Given the description of an element on the screen output the (x, y) to click on. 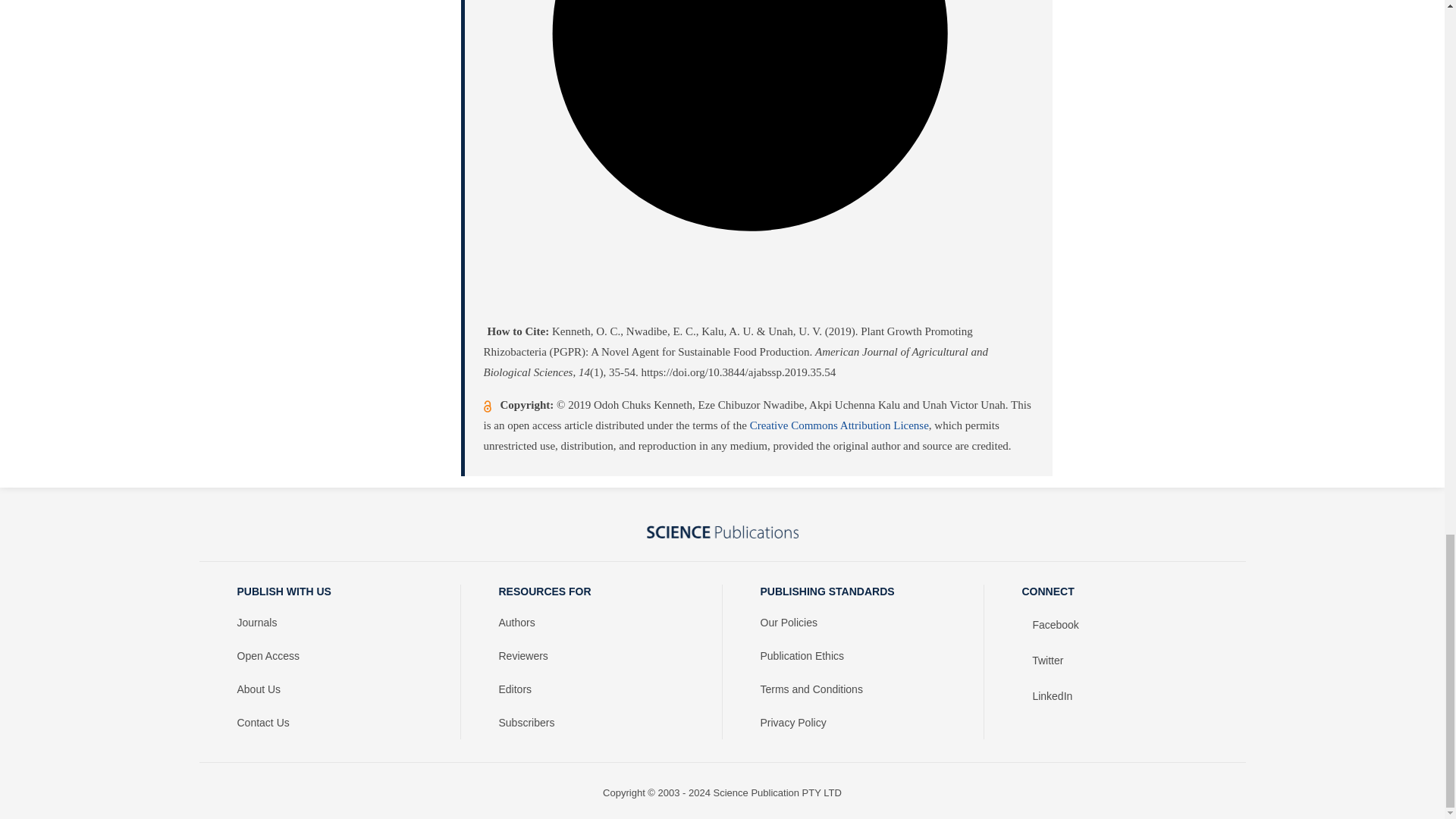
Science Publications (721, 531)
Creative Commons Attribution License (838, 425)
Open Access (328, 655)
Journals (328, 622)
